Given the description of an element on the screen output the (x, y) to click on. 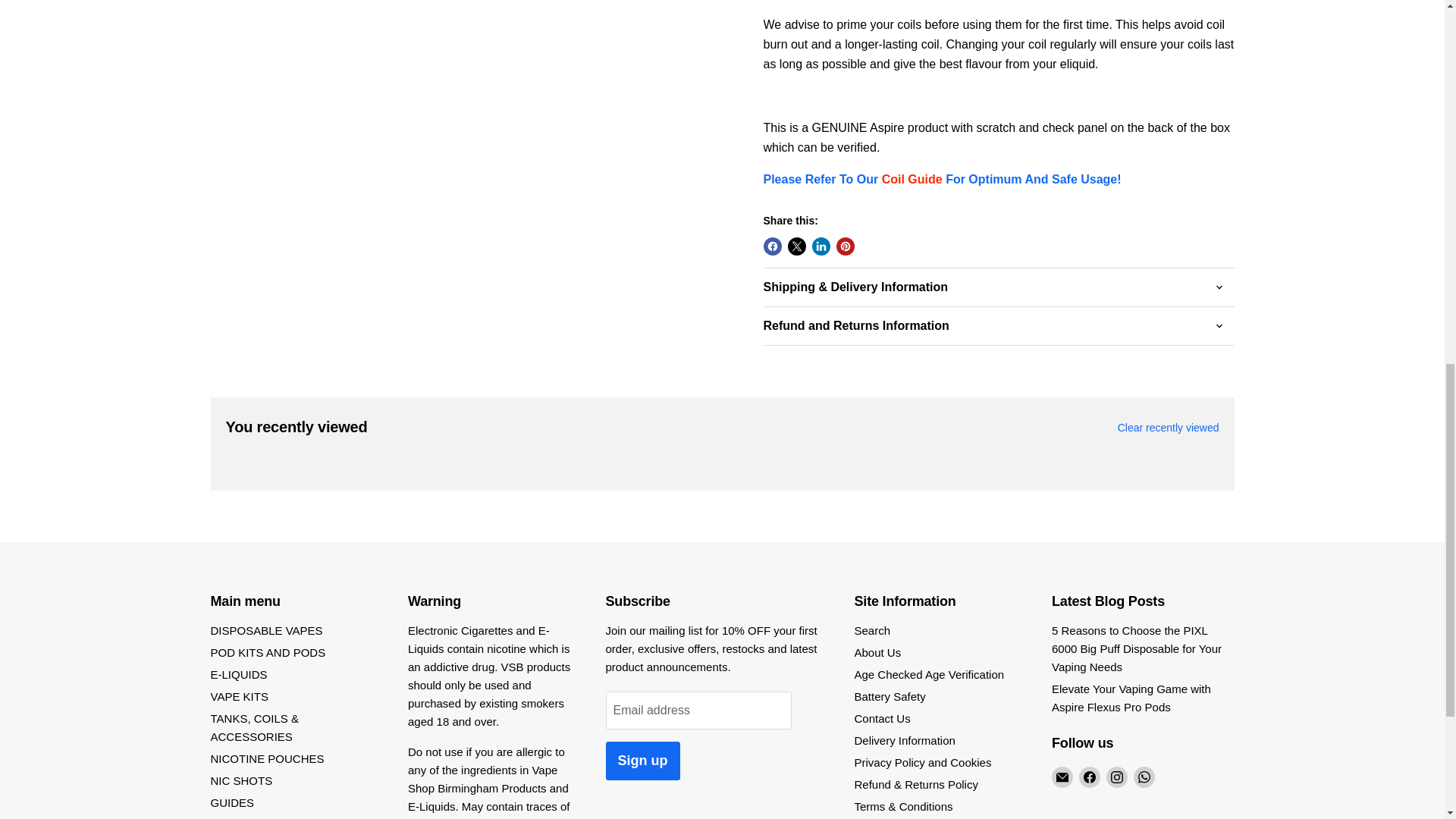
Facebook (1089, 776)
Instagram (1116, 776)
WhatsApp (1144, 776)
Email (1062, 776)
